Given the description of an element on the screen output the (x, y) to click on. 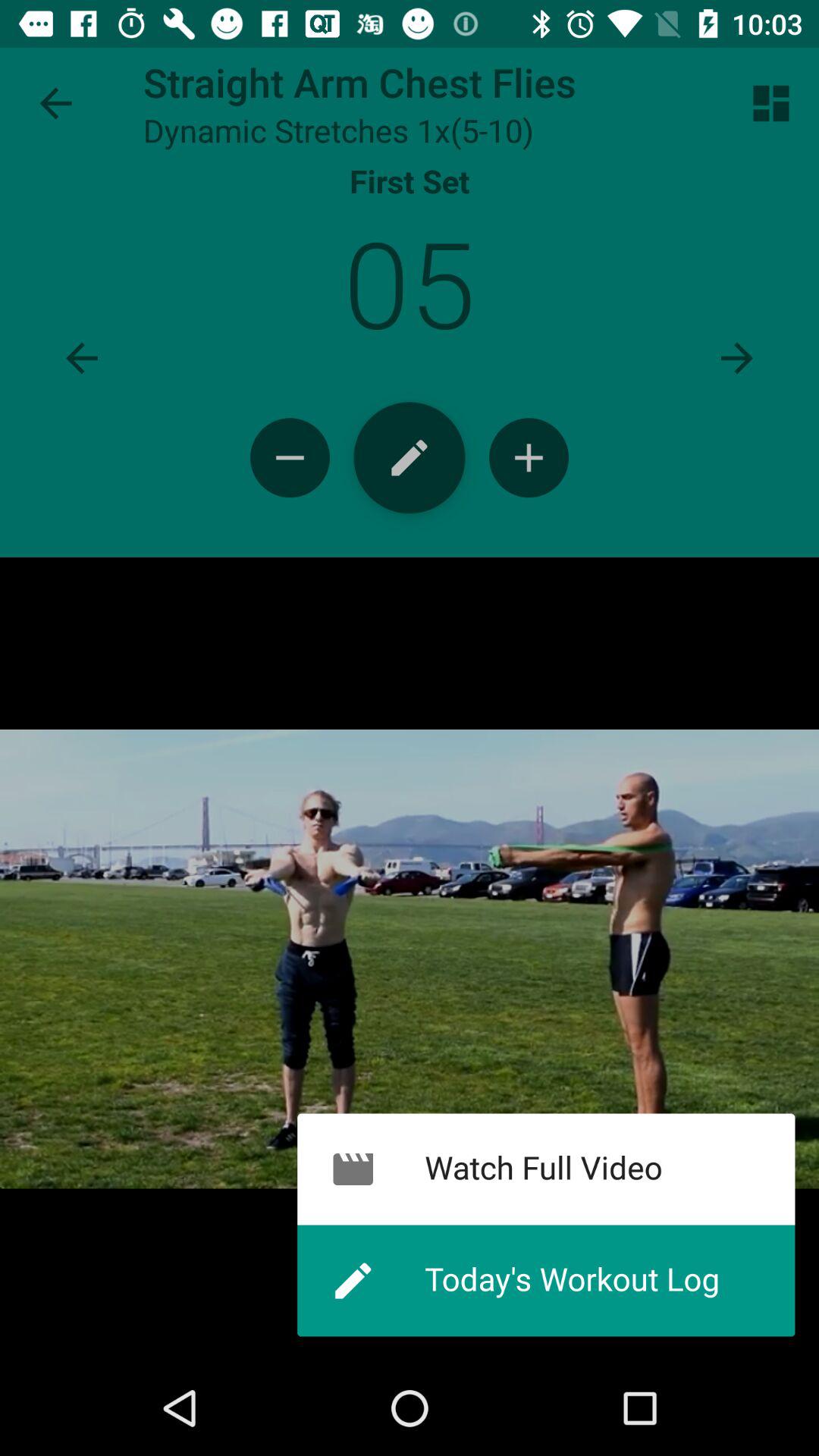
select count decrease (289, 457)
